Given the description of an element on the screen output the (x, y) to click on. 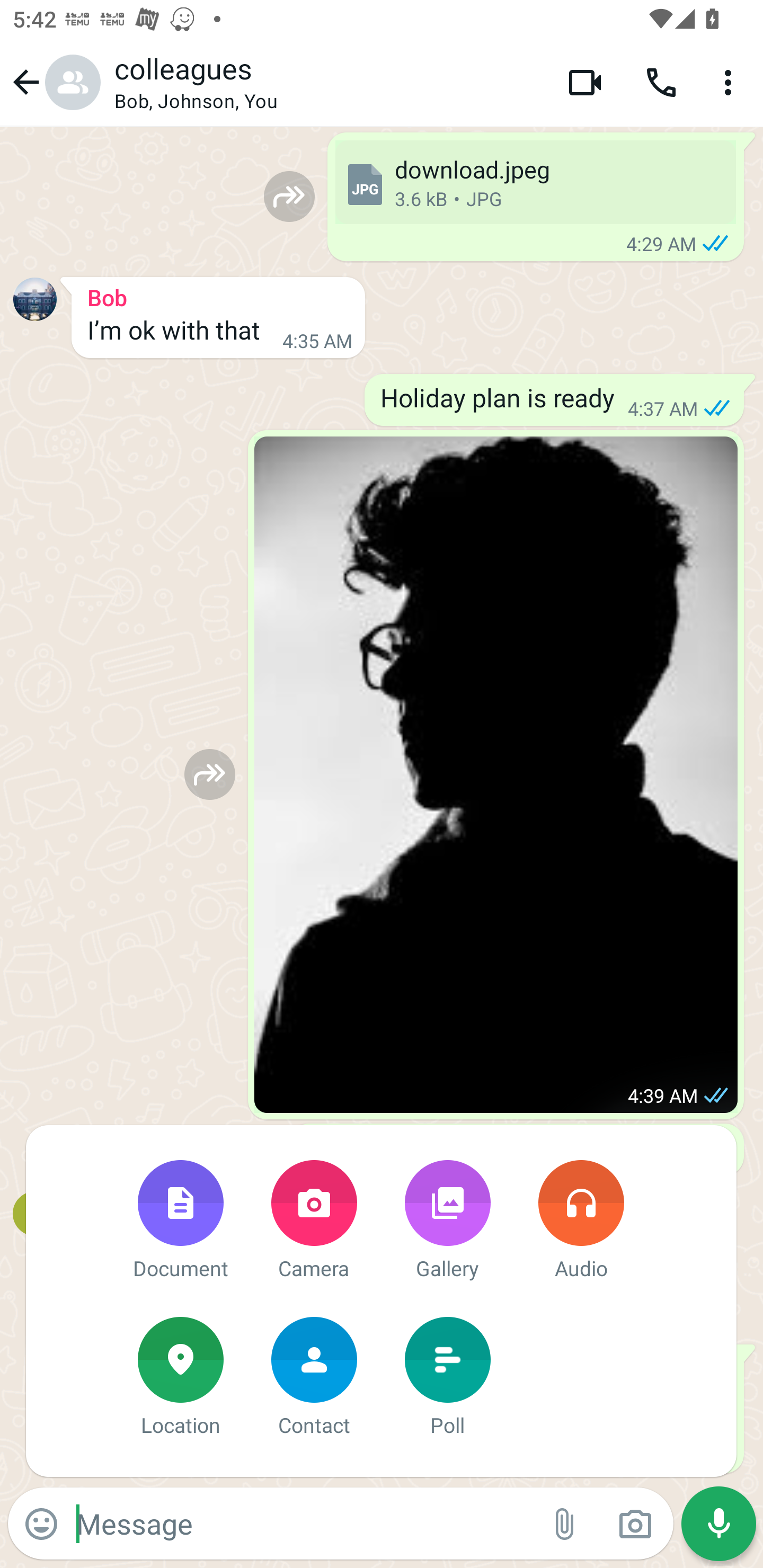
Document (180, 1221)
Camera (313, 1221)
Gallery (447, 1221)
Audio (580, 1221)
Location (180, 1378)
Contact (313, 1378)
Poll (447, 1378)
